Given the description of an element on the screen output the (x, y) to click on. 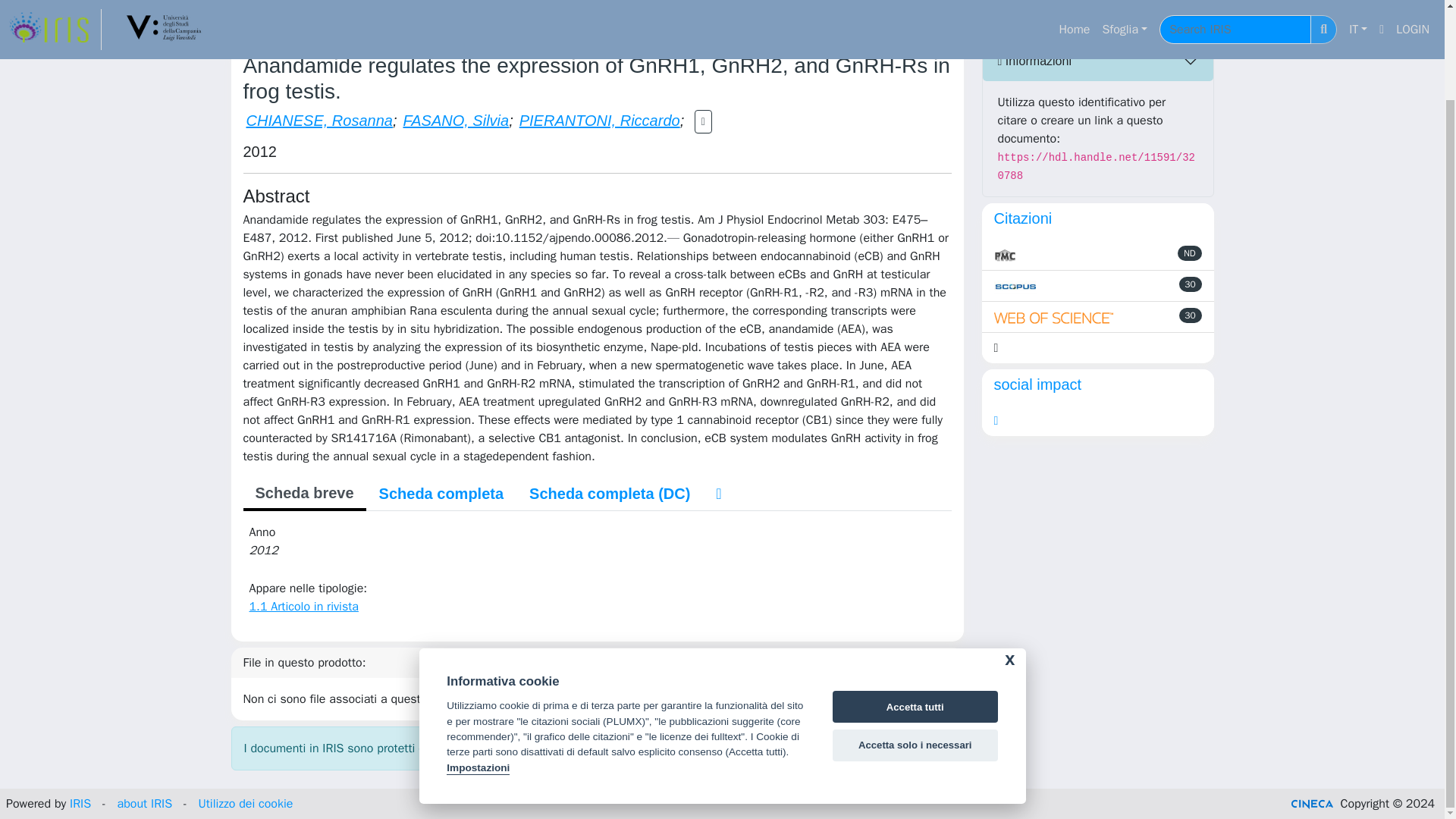
1.1 Articolo in rivista (303, 606)
FASANO, Silvia (455, 120)
CHIANESE, Rosanna (318, 120)
aggiornato in data 08-07-2024 18:52 (1190, 283)
 Informazioni (1097, 61)
1.1 Articolo in rivista (572, 19)
Scheda breve (304, 494)
Catalogo Ricerca (314, 19)
Scheda completa (441, 493)
PIERANTONI, Riccardo (599, 120)
1 Contributo su Rivista (438, 19)
IRIS (240, 19)
